Given the description of an element on the screen output the (x, y) to click on. 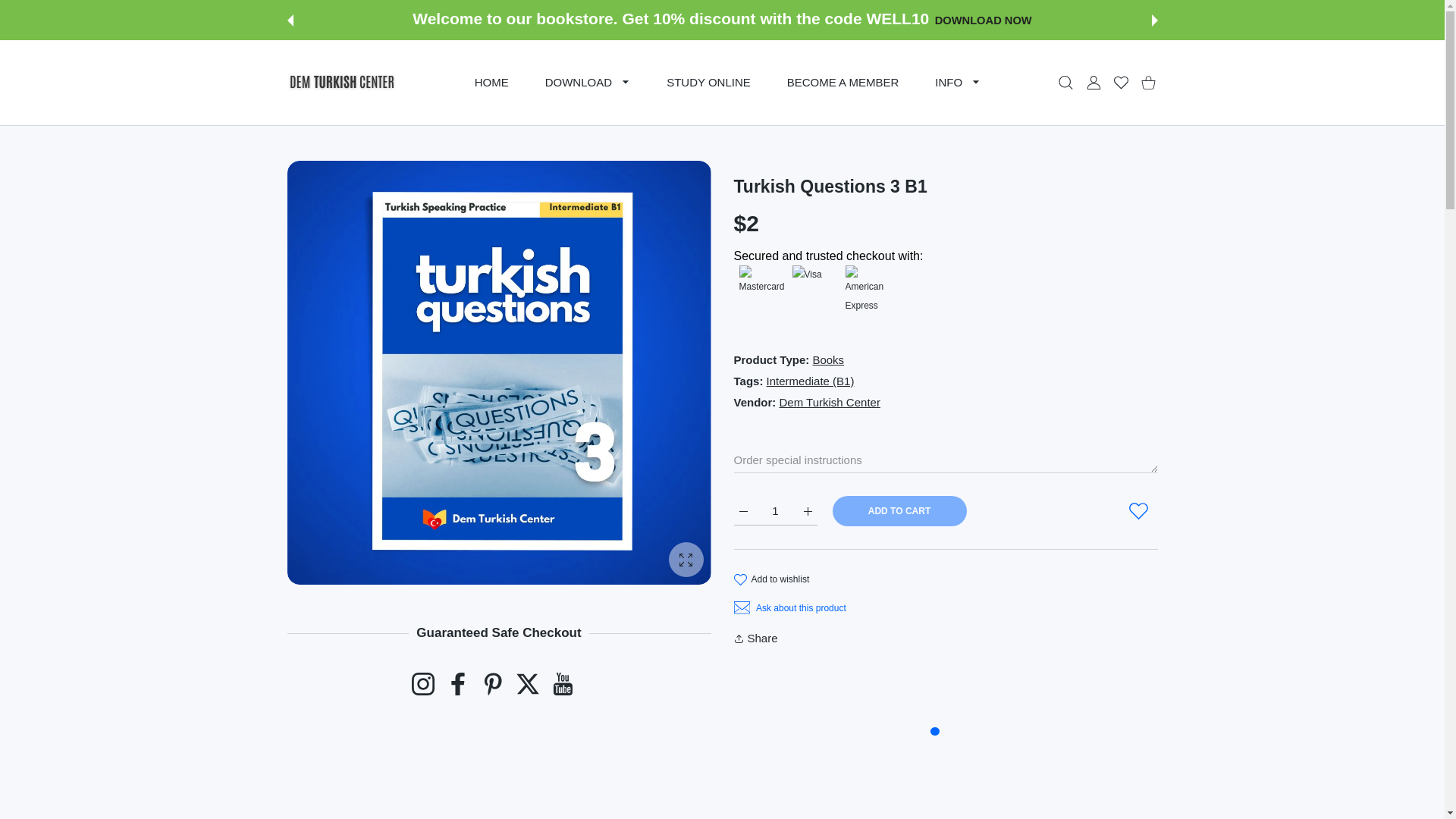
STUDY ONLINE (708, 82)
Dem Turkish Center  (341, 82)
1 (774, 510)
DOWNLOAD (587, 82)
BECOME A MEMBER (842, 82)
Shopping Cart (1147, 83)
USER ACCOUNT (1094, 83)
Books (828, 359)
HOME (491, 82)
Wishlist (1120, 83)
DOWNLOAD NOW (979, 20)
INFO (957, 82)
